Given the description of an element on the screen output the (x, y) to click on. 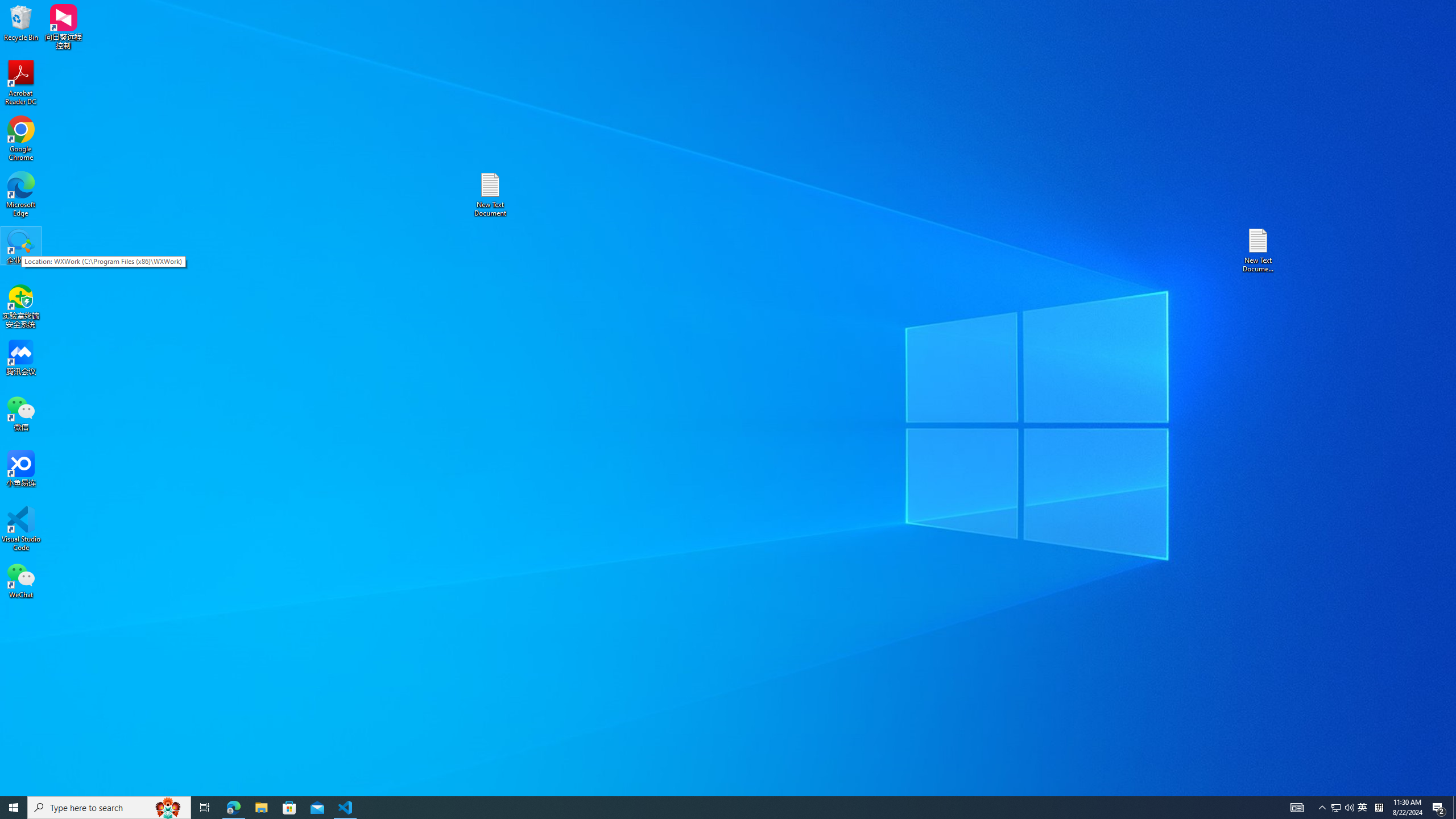
Q2790: 100% (1349, 807)
WeChat (21, 580)
Action Center, 2 new notifications (1439, 807)
Acrobat Reader DC (21, 82)
New Text Document (489, 194)
Tray Input Indicator - Chinese (Simplified, China) (1378, 807)
Start (13, 807)
Visual Studio Code (21, 528)
Recycle Bin (21, 22)
Google Chrome (21, 138)
File Explorer (261, 807)
